Given the description of an element on the screen output the (x, y) to click on. 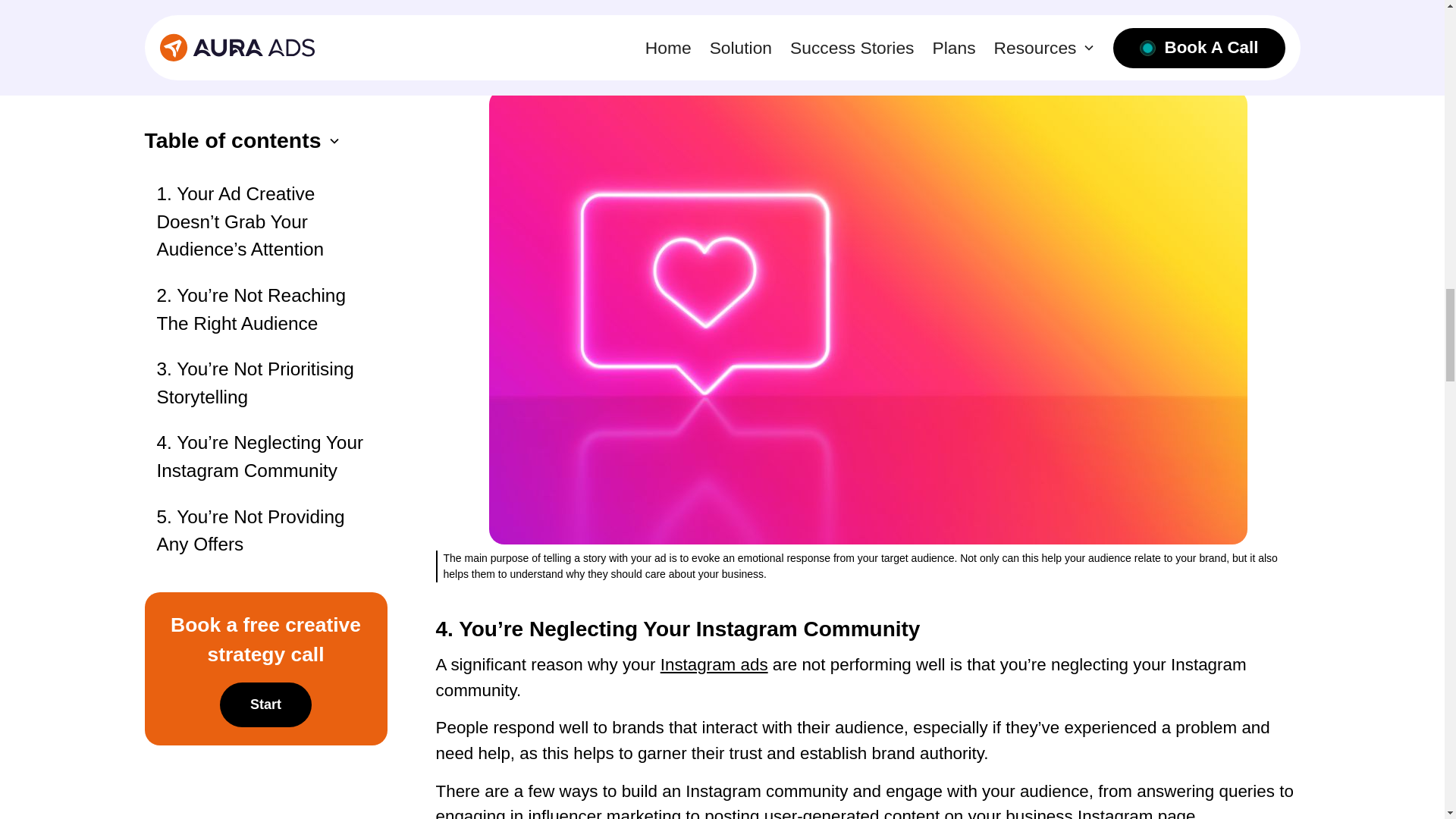
Instagram ads (714, 664)
engagement. (919, 6)
